Given the description of an element on the screen output the (x, y) to click on. 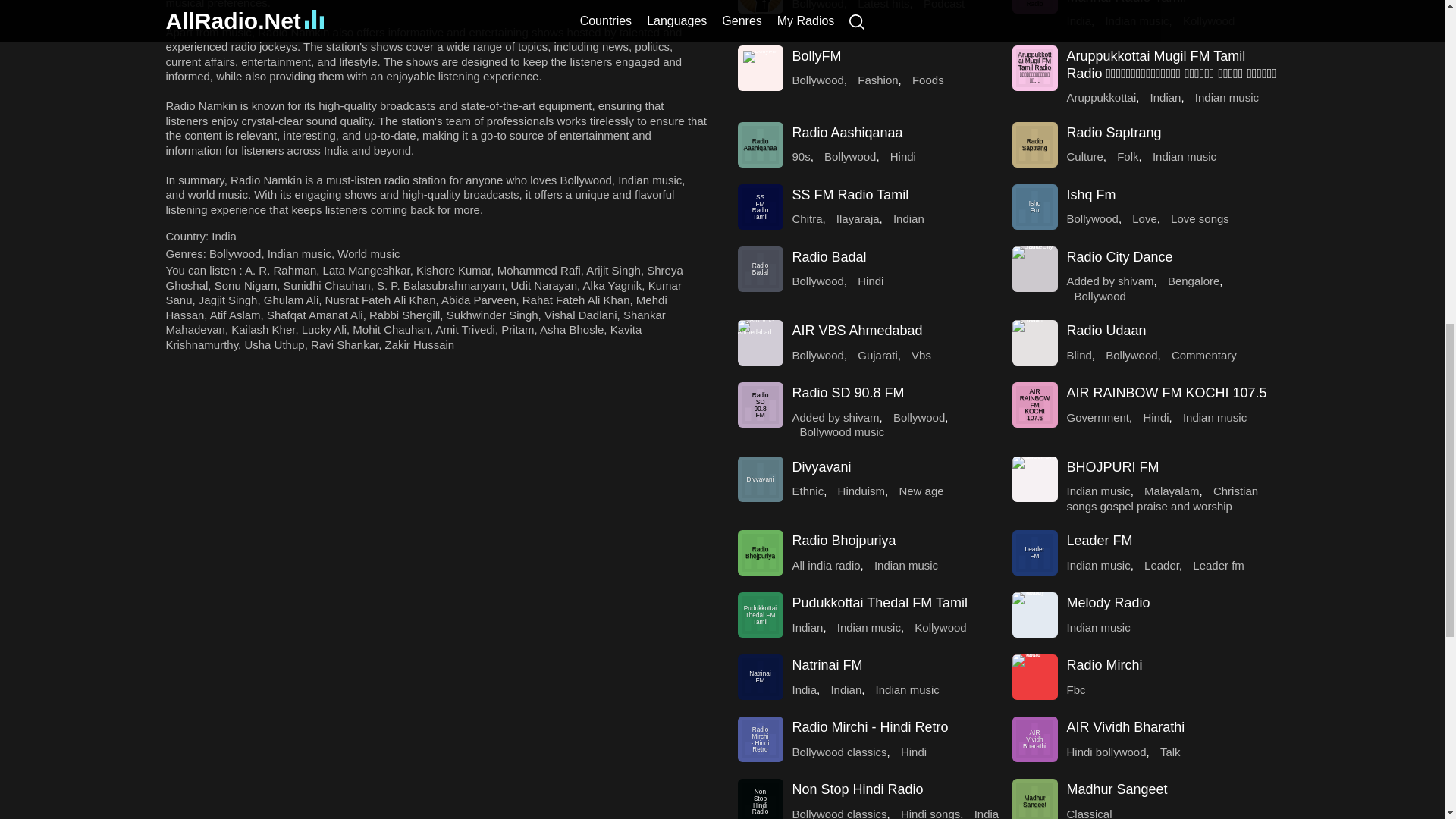
Indian music (299, 253)
World music (367, 253)
India (223, 236)
Indian music (299, 253)
World music (367, 253)
Bollywood (234, 253)
Bollywood (234, 253)
